Given the description of an element on the screen output the (x, y) to click on. 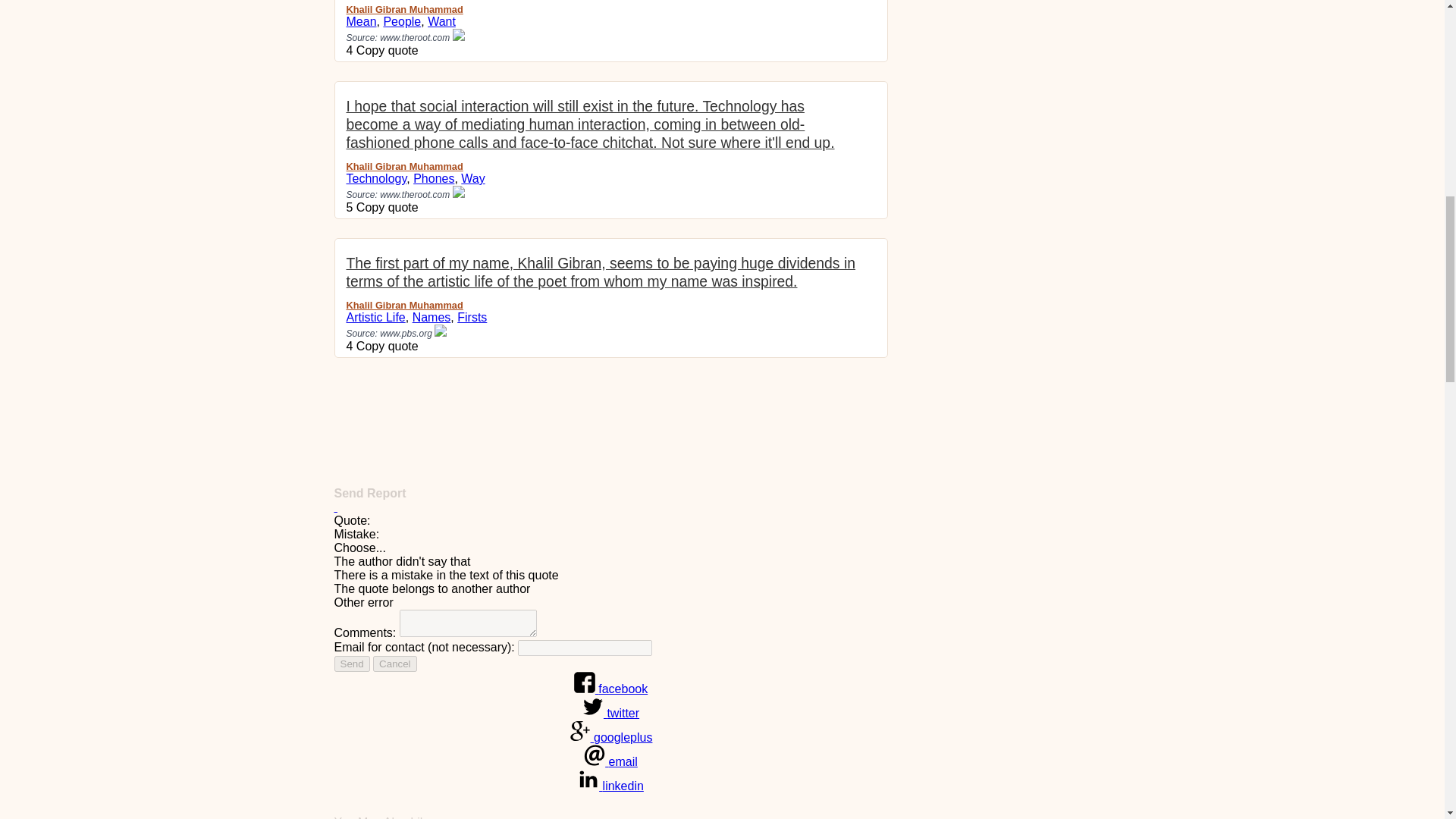
Cancel (394, 663)
Send (351, 663)
Quote is copied (387, 206)
Quote is copied (387, 50)
Quote is copied (387, 345)
